Given the description of an element on the screen output the (x, y) to click on. 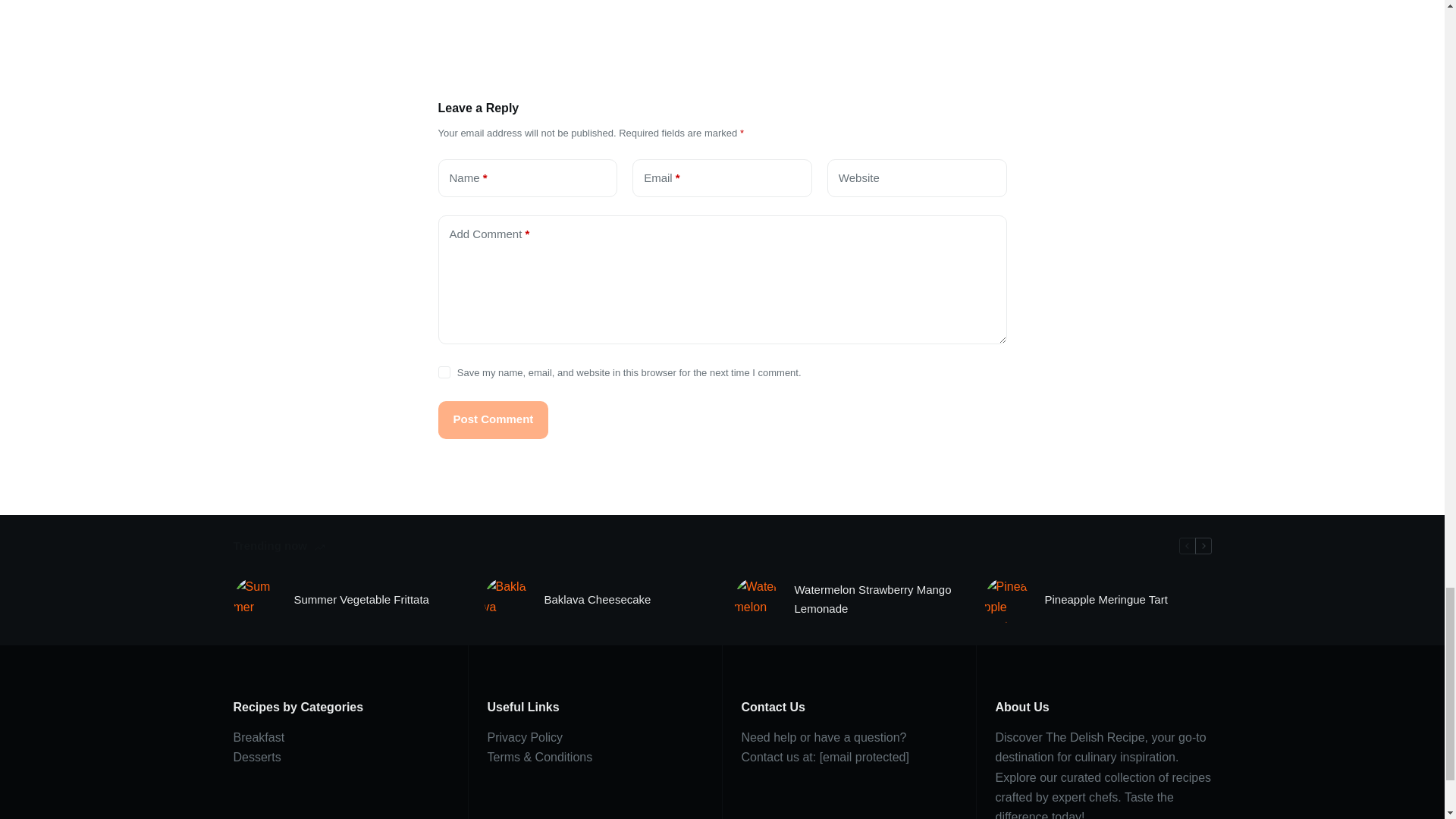
Watermelon Strawberry Mango Lemonade (877, 599)
Post Comment (493, 419)
Summer Vegetable Frittata (361, 599)
Baklava Cheesecake (597, 599)
yes (443, 372)
Desserts (256, 757)
Privacy Policy (524, 737)
Pineapple Meringue Tart (1106, 599)
Breakfast (258, 737)
